Given the description of an element on the screen output the (x, y) to click on. 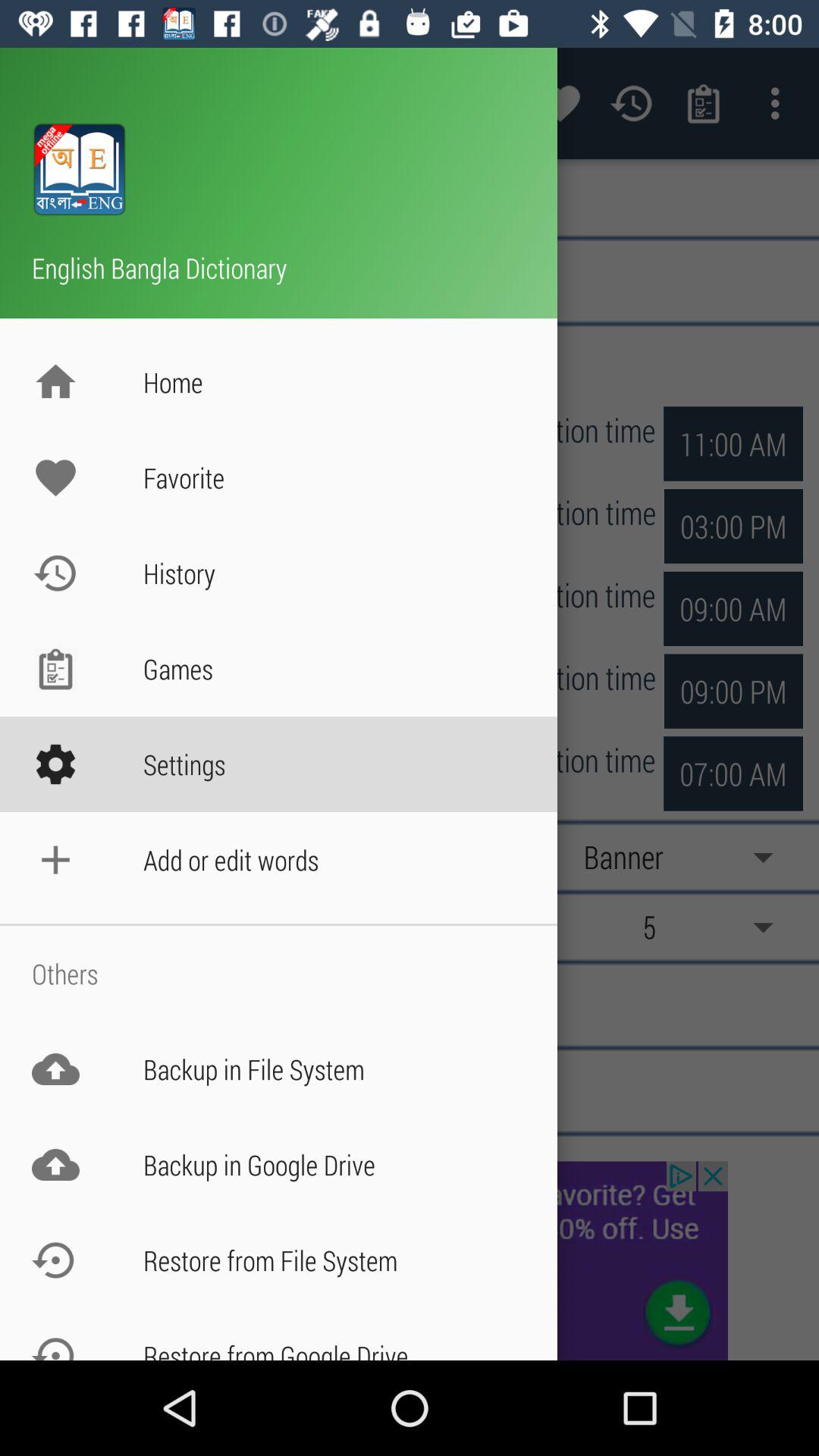
select the more option at top right corner of the page (779, 103)
move to the box that reads 0700 am (733, 691)
